Given the description of an element on the screen output the (x, y) to click on. 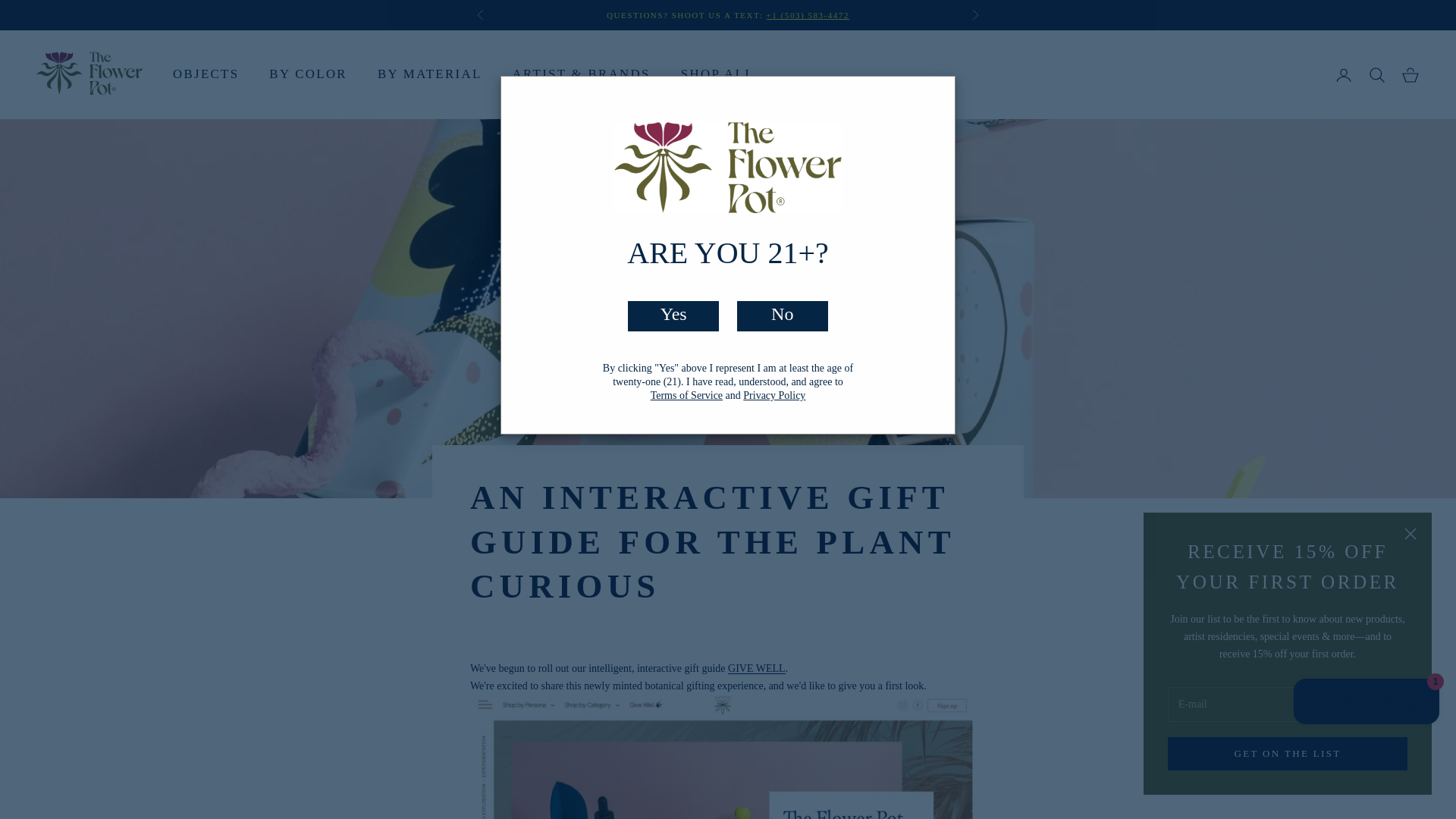
Next (975, 15)
Previous (480, 15)
Shopify online store chat (1366, 703)
